Given the description of an element on the screen output the (x, y) to click on. 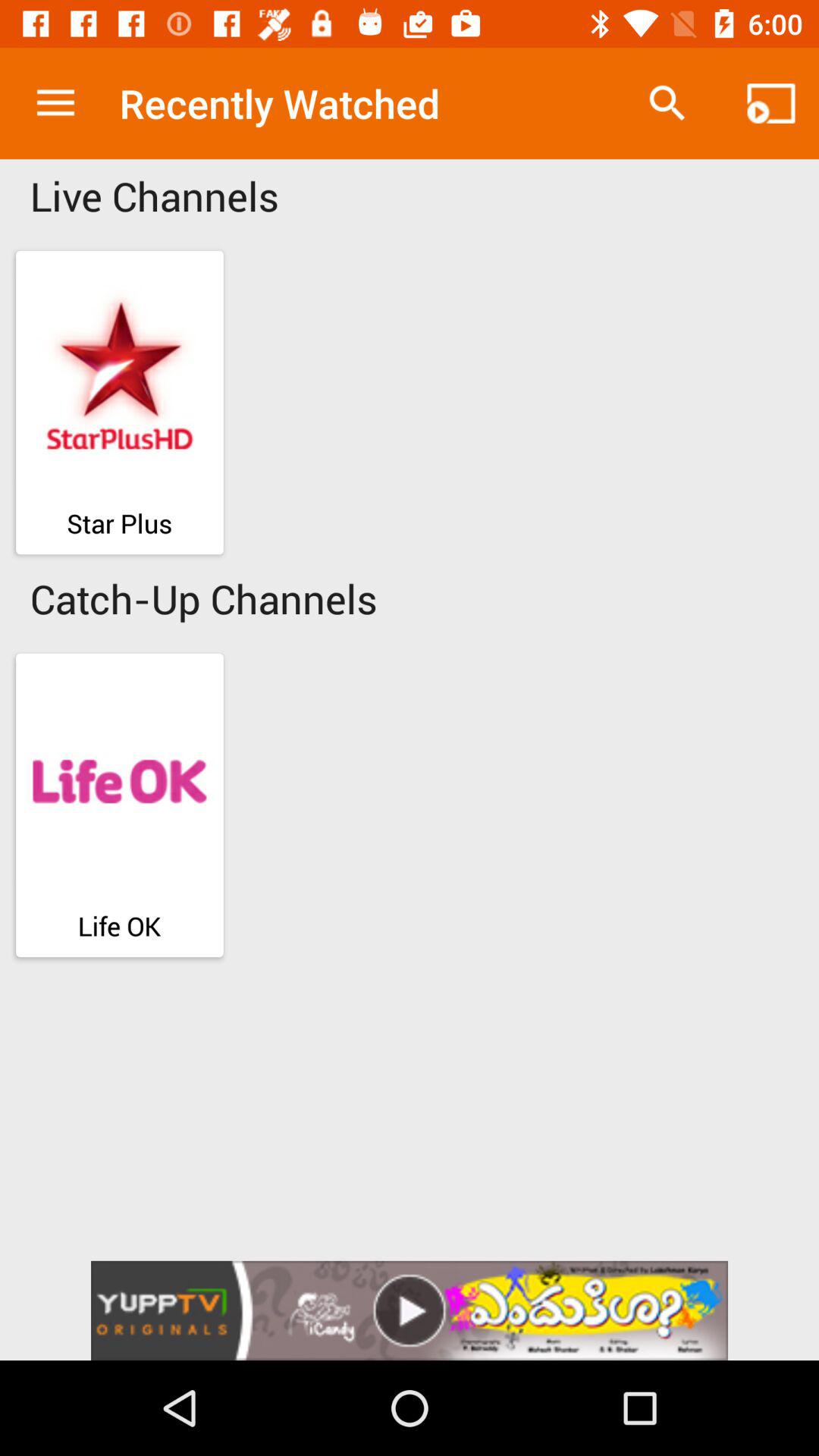
go to adverdisement (409, 1310)
